Given the description of an element on the screen output the (x, y) to click on. 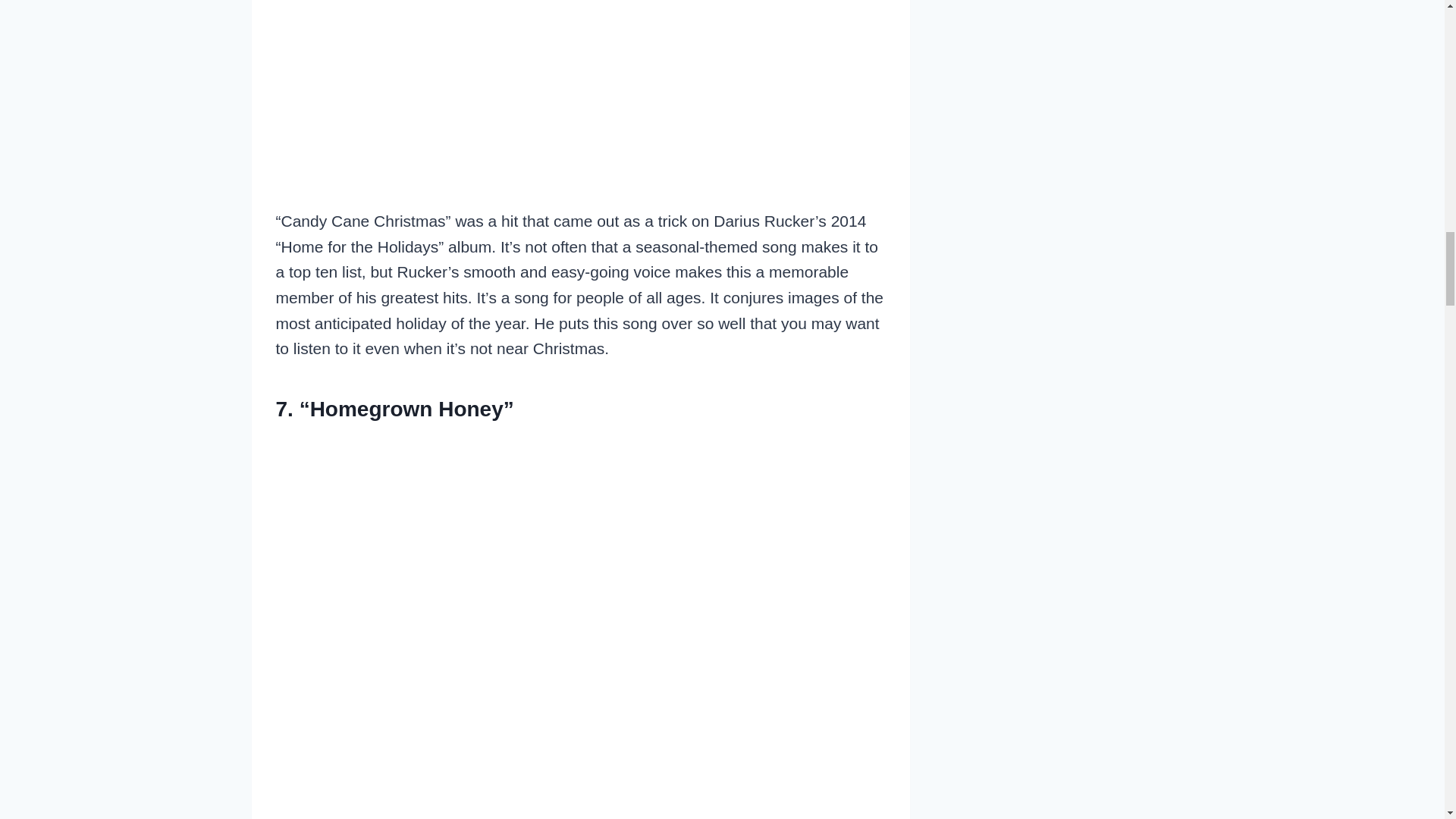
Candy Cane Christmas (581, 67)
